Given the description of an element on the screen output the (x, y) to click on. 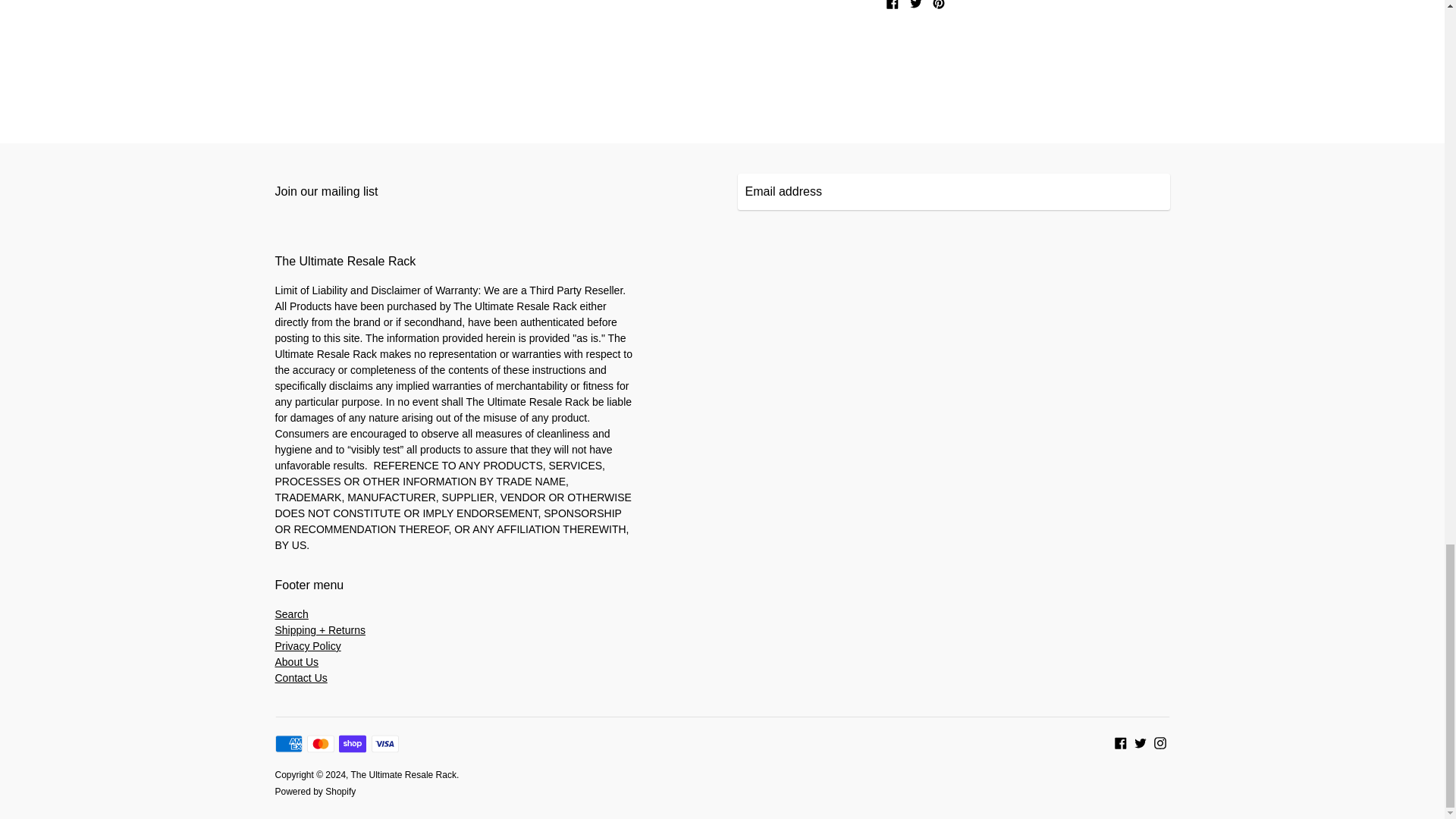
The Ultimate Resale Rack on Twitter (1140, 741)
Shop Pay (352, 743)
Visa (384, 743)
American Express (288, 743)
The Ultimate Resale Rack on Instagram (1160, 741)
Mastercard (320, 743)
The Ultimate Resale Rack on Facebook (1120, 741)
